Given the description of an element on the screen output the (x, y) to click on. 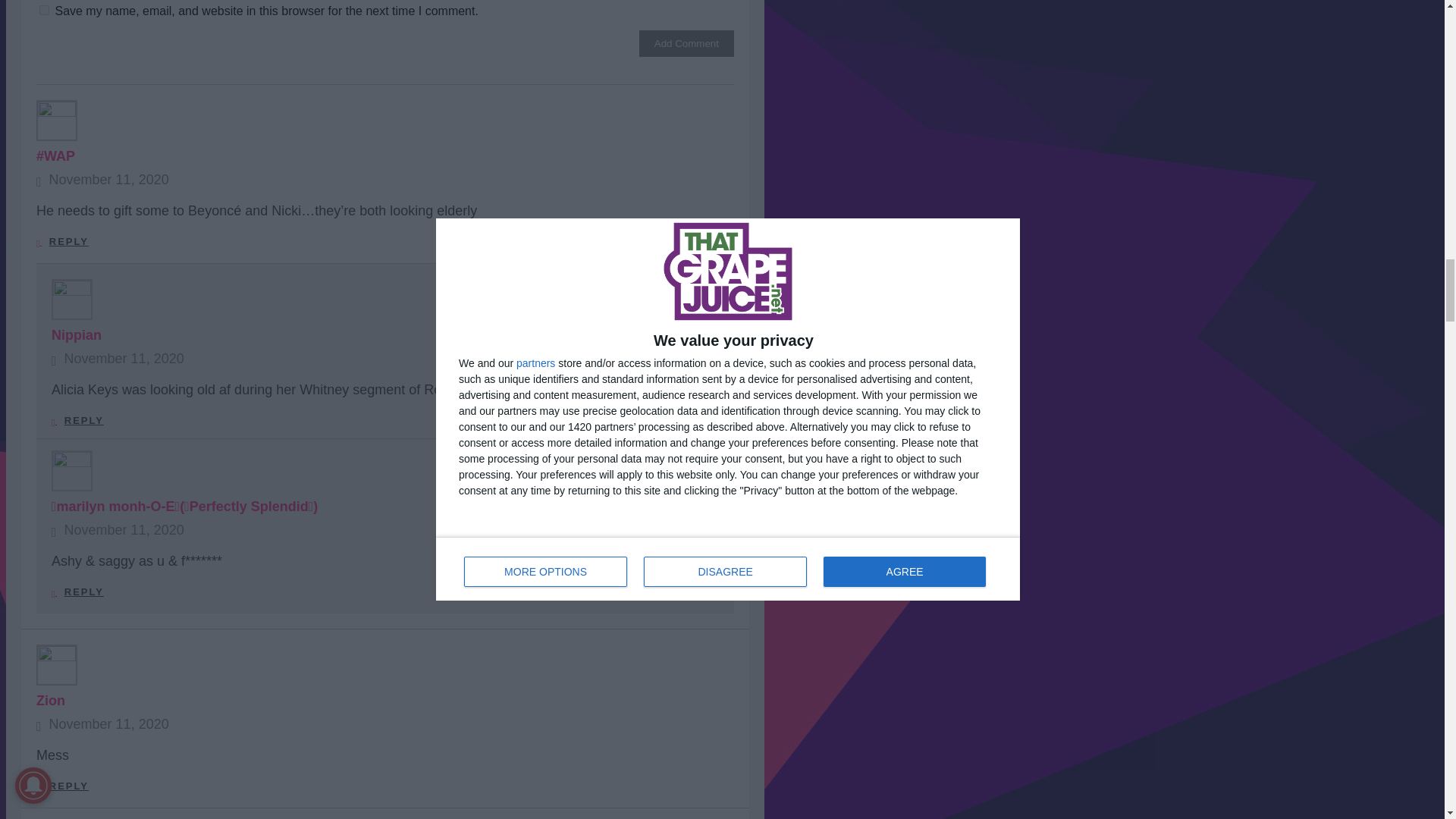
yes (44, 9)
Add Comment (686, 43)
